Given the description of an element on the screen output the (x, y) to click on. 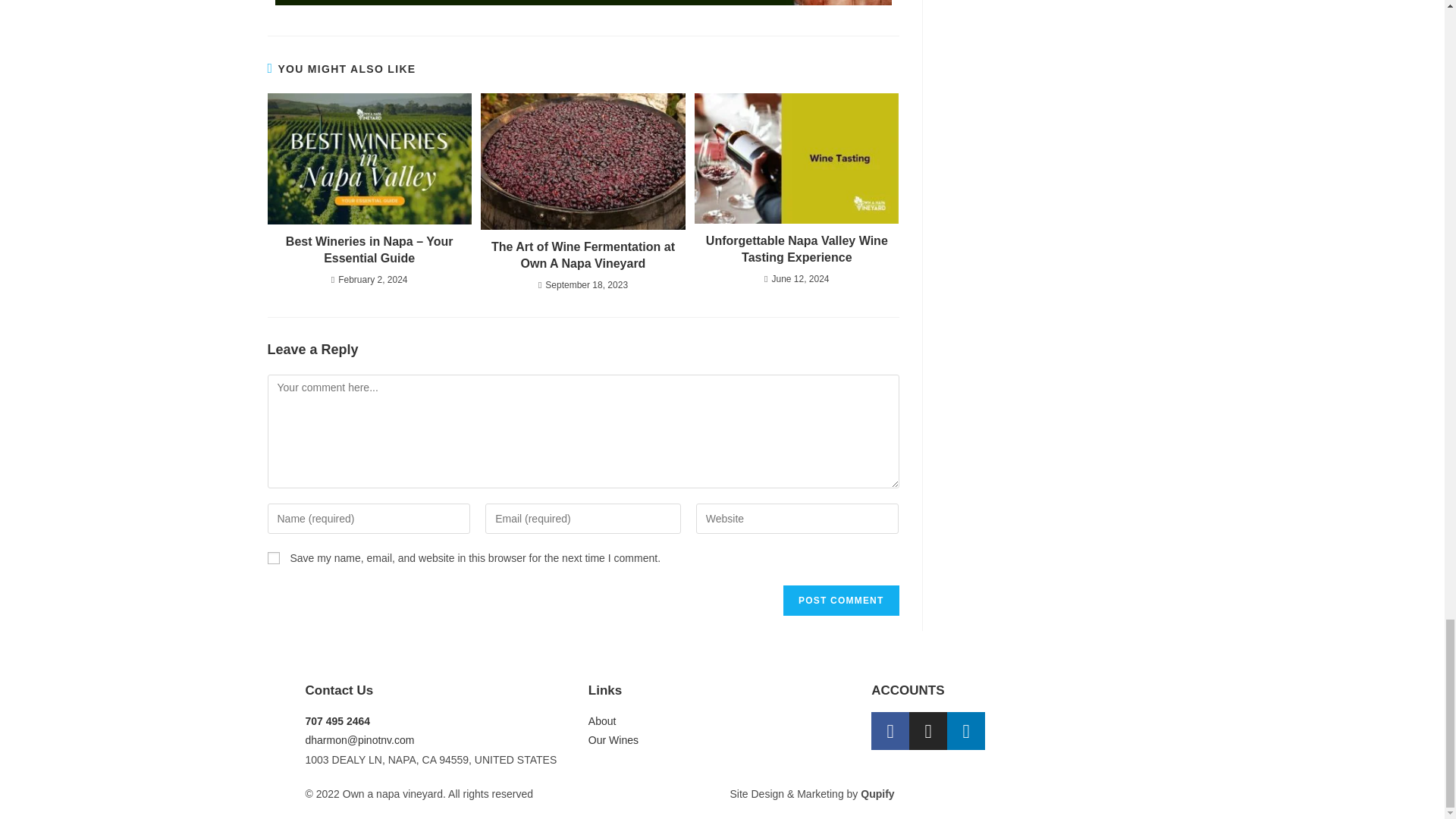
707 495 2464 (438, 721)
Unforgettable Napa Valley Wine Tasting Experience (796, 249)
The Art of Wine Fermentation at Own A Napa Vineyard (582, 255)
Our Wines (722, 740)
About (722, 721)
Post Comment (840, 600)
Post Comment (840, 600)
yes (272, 558)
